Given the description of an element on the screen output the (x, y) to click on. 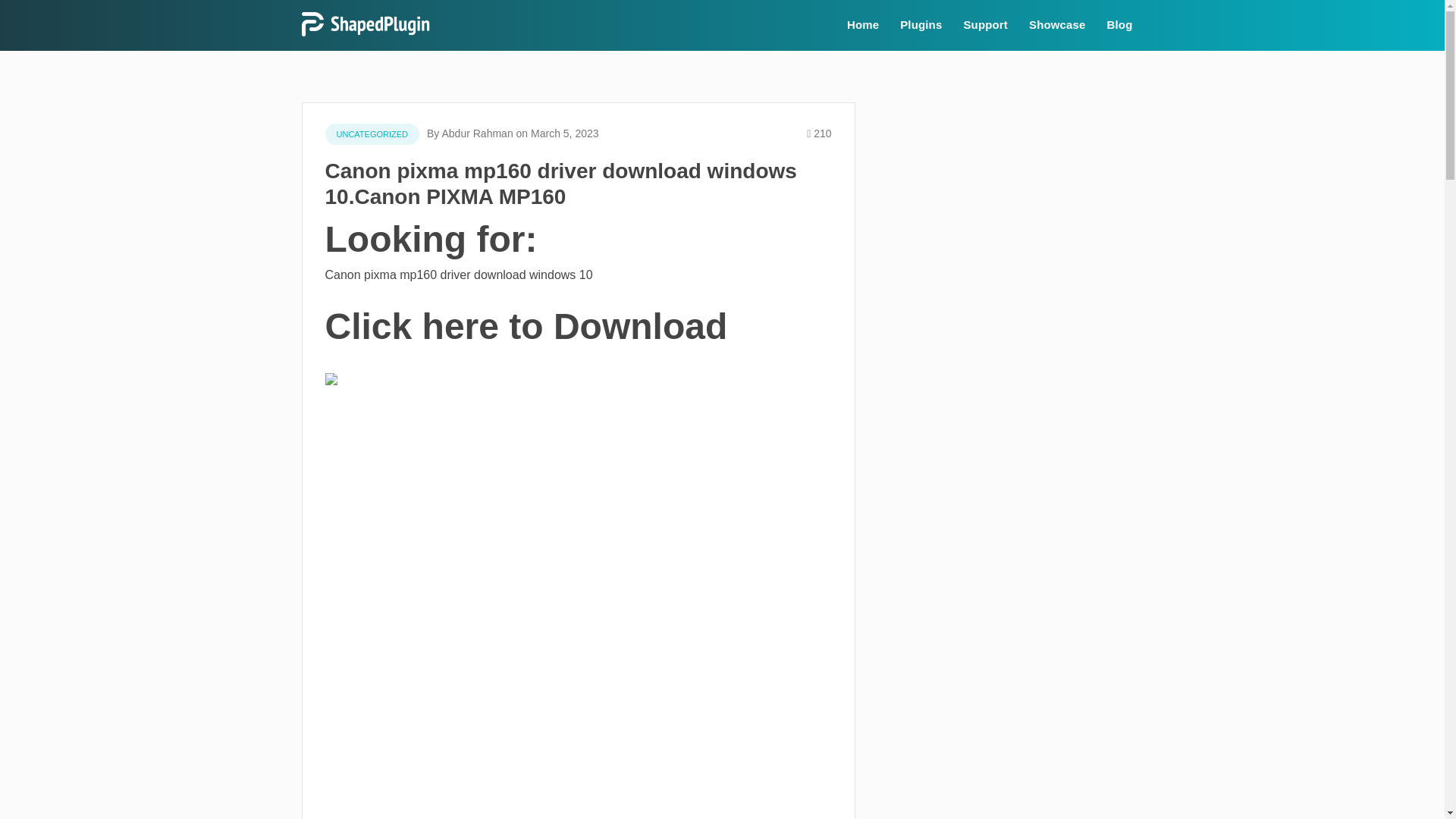
Plugins (920, 25)
Showcase (1056, 25)
Showcase (1056, 25)
Plugins (920, 25)
Support (984, 25)
Blog (1119, 25)
Click here to Download (525, 334)
Home (862, 25)
Home (862, 25)
Abdur Rahman (476, 133)
